Given the description of an element on the screen output the (x, y) to click on. 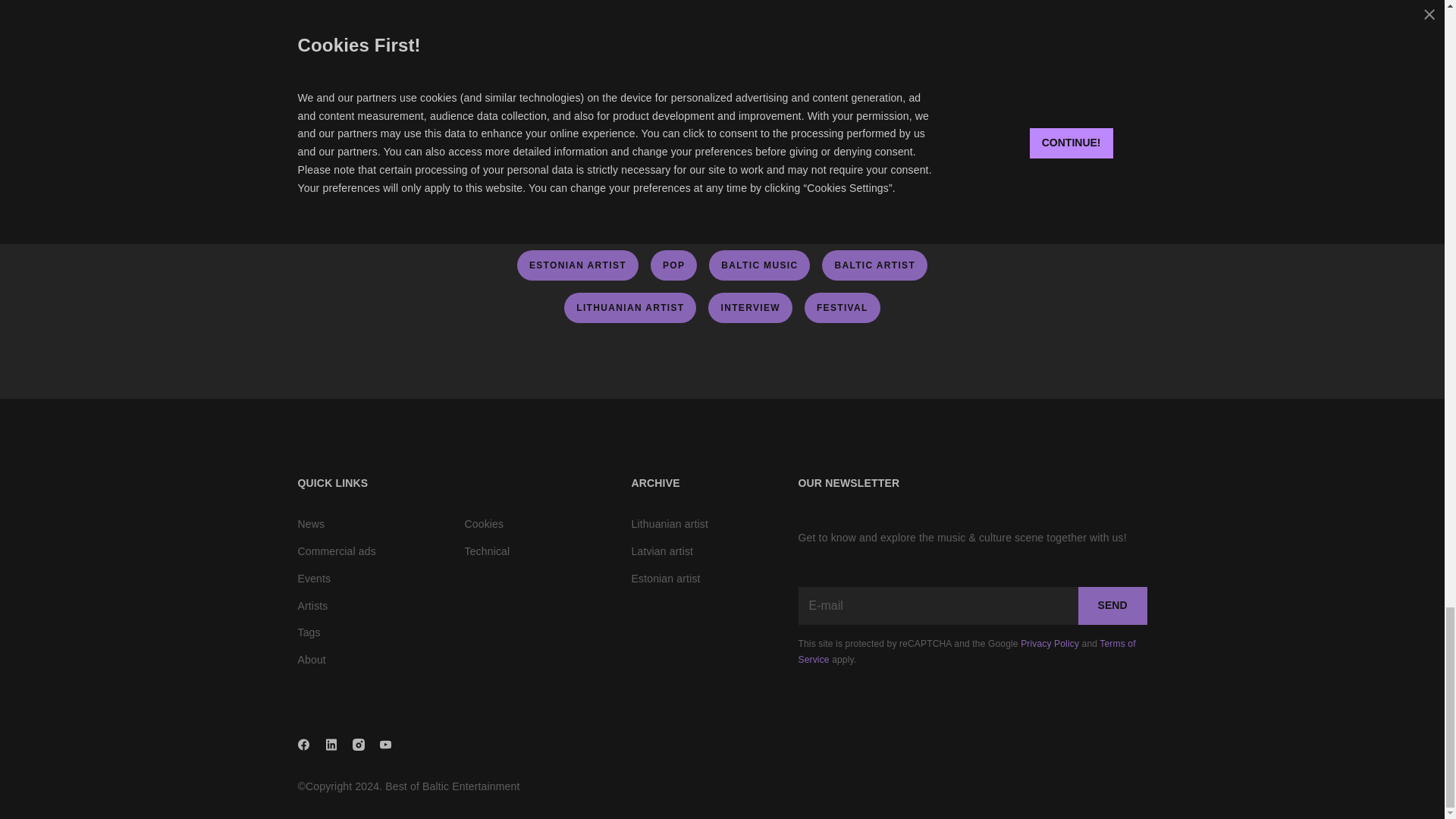
LATVIAN ARTIST (696, 179)
MUSIC (524, 179)
LATVIA (595, 179)
ESTONIA (799, 179)
Explore kinky wonderland in Podruga's new dance track (736, 1)
